Given the description of an element on the screen output the (x, y) to click on. 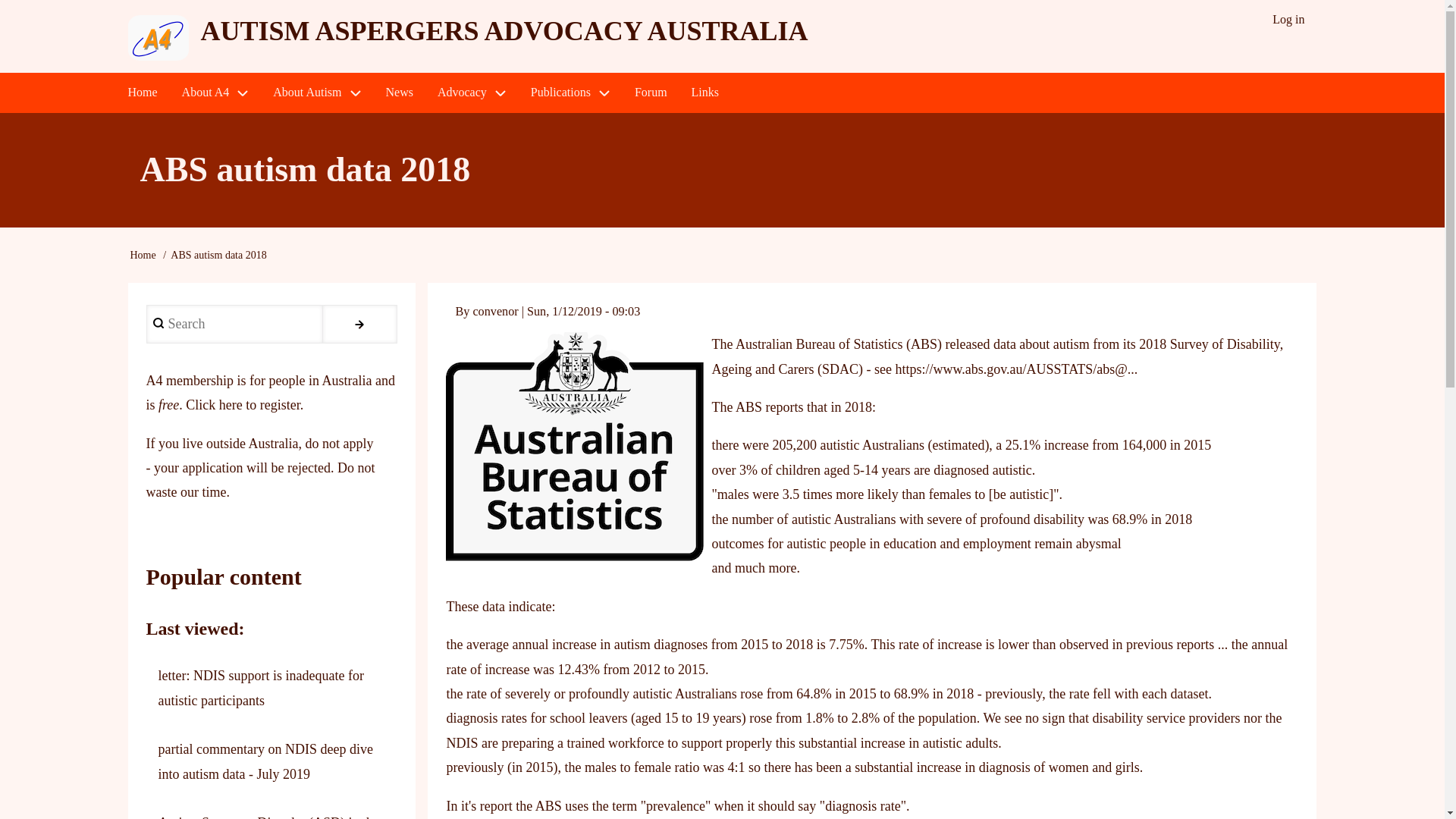
Publications Element type: text (570, 92)
Links Element type: text (705, 92)
Log in Element type: text (1288, 20)
Home Element type: text (143, 254)
Click here to register Element type: text (242, 404)
Skip to main content Element type: text (0, 0)
News Element type: text (399, 92)
Forum Element type: text (650, 92)
Advocacy Element type: text (471, 92)
Home Element type: text (142, 92)
Enter the terms you wish to search for. Element type: hover (233, 323)
AUTISM ASPERGERS ADVOCACY AUSTRALIA Element type: text (503, 31)
letter: NDIS support is inadequate for autistic participants Element type: text (260, 687)
About A4 Element type: text (215, 92)
About Autism Element type: text (316, 92)
. Element type: text (360, 323)
Home Element type: hover (157, 37)
https://www.abs.gov.au/AUSSTATS/abs Element type: text (1004, 368)
